Given the description of an element on the screen output the (x, y) to click on. 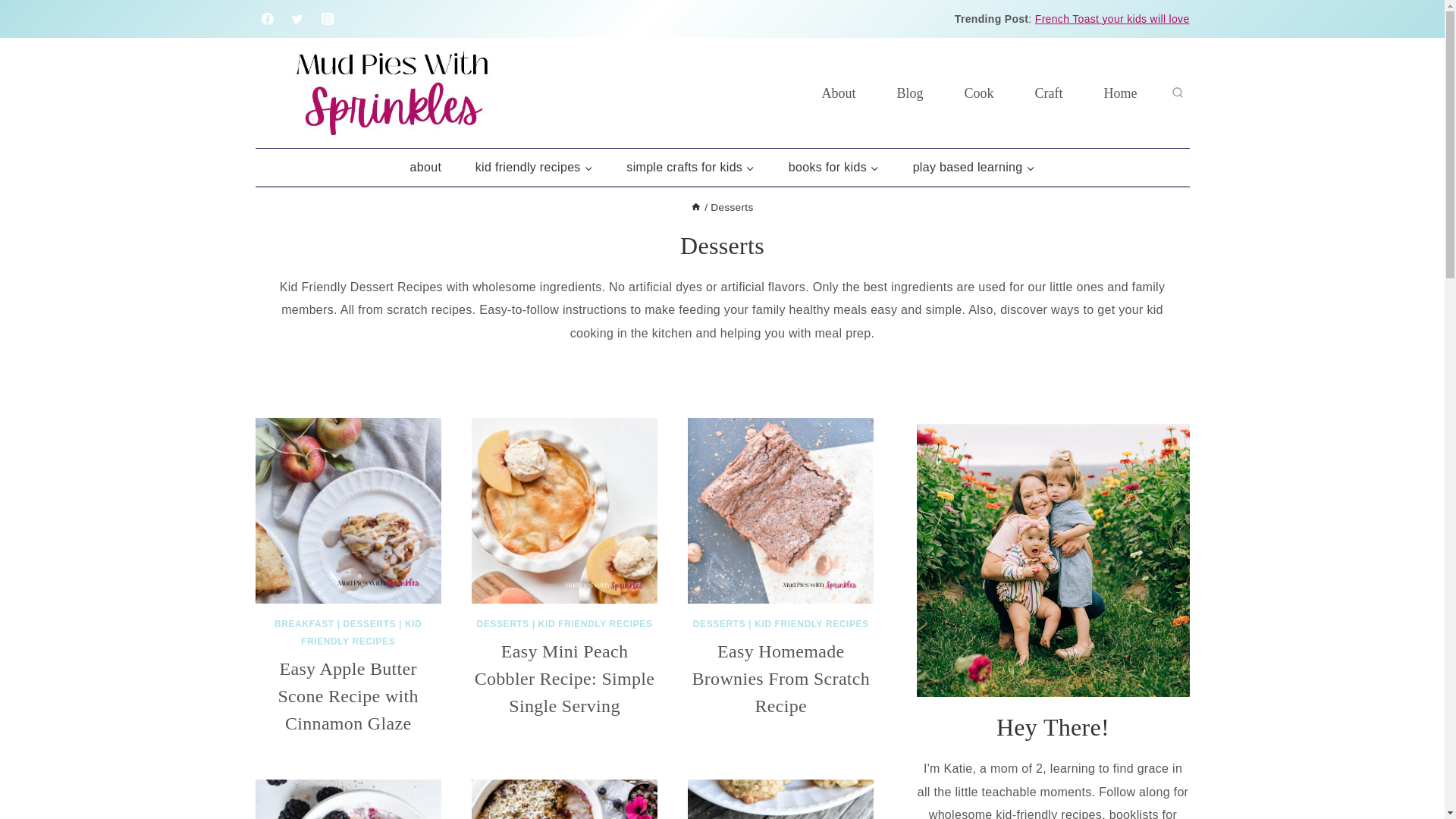
Cook (978, 92)
Craft (1048, 92)
play based learning (973, 167)
simple crafts for kids (690, 167)
kid friendly recipes (534, 167)
books for kids (833, 167)
French Toast your kids will love (1112, 19)
About (838, 92)
Home (1120, 92)
Home (695, 206)
